Given the description of an element on the screen output the (x, y) to click on. 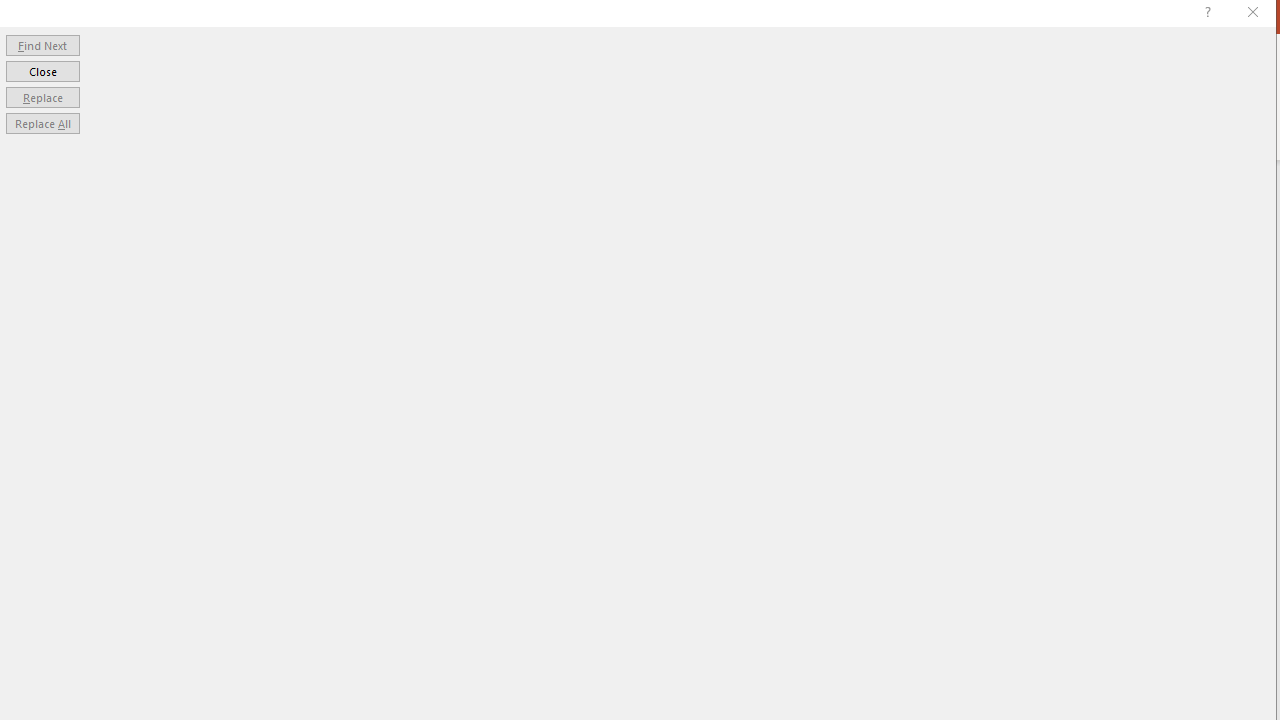
Recommended Design: Design Idea (1124, 286)
Replace (42, 96)
Replace All (42, 123)
Context help (1206, 14)
